Given the description of an element on the screen output the (x, y) to click on. 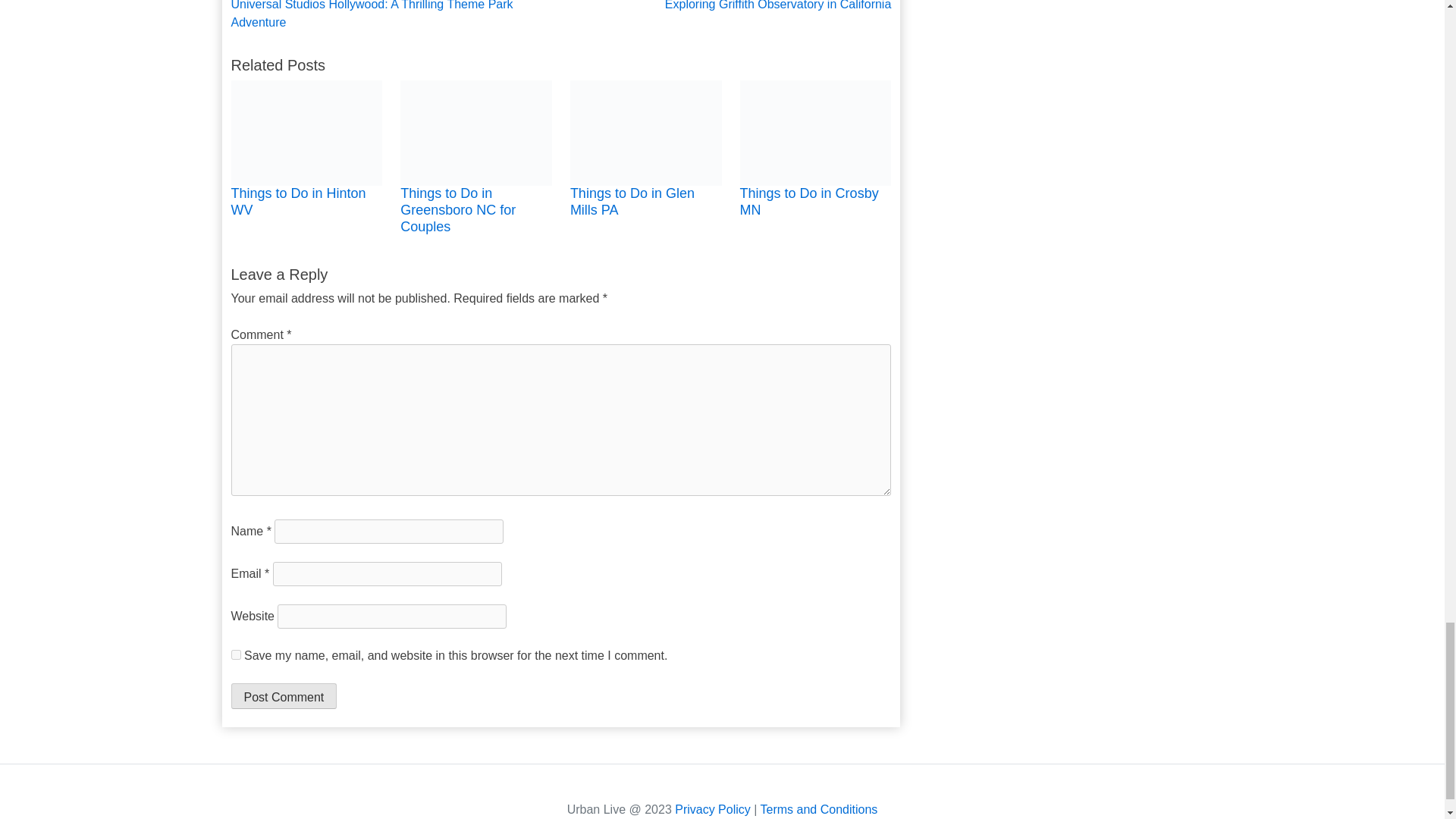
Things to Do in Crosby MN (809, 201)
yes (235, 655)
Post Comment (283, 696)
Post Comment (283, 696)
Exploring Griffith Observatory in California (725, 6)
Things to Do in Glen Mills PA (632, 201)
Things to Do in Hinton WV (297, 201)
Things to Do in Greensboro NC for Couples (457, 209)
